Given the description of an element on the screen output the (x, y) to click on. 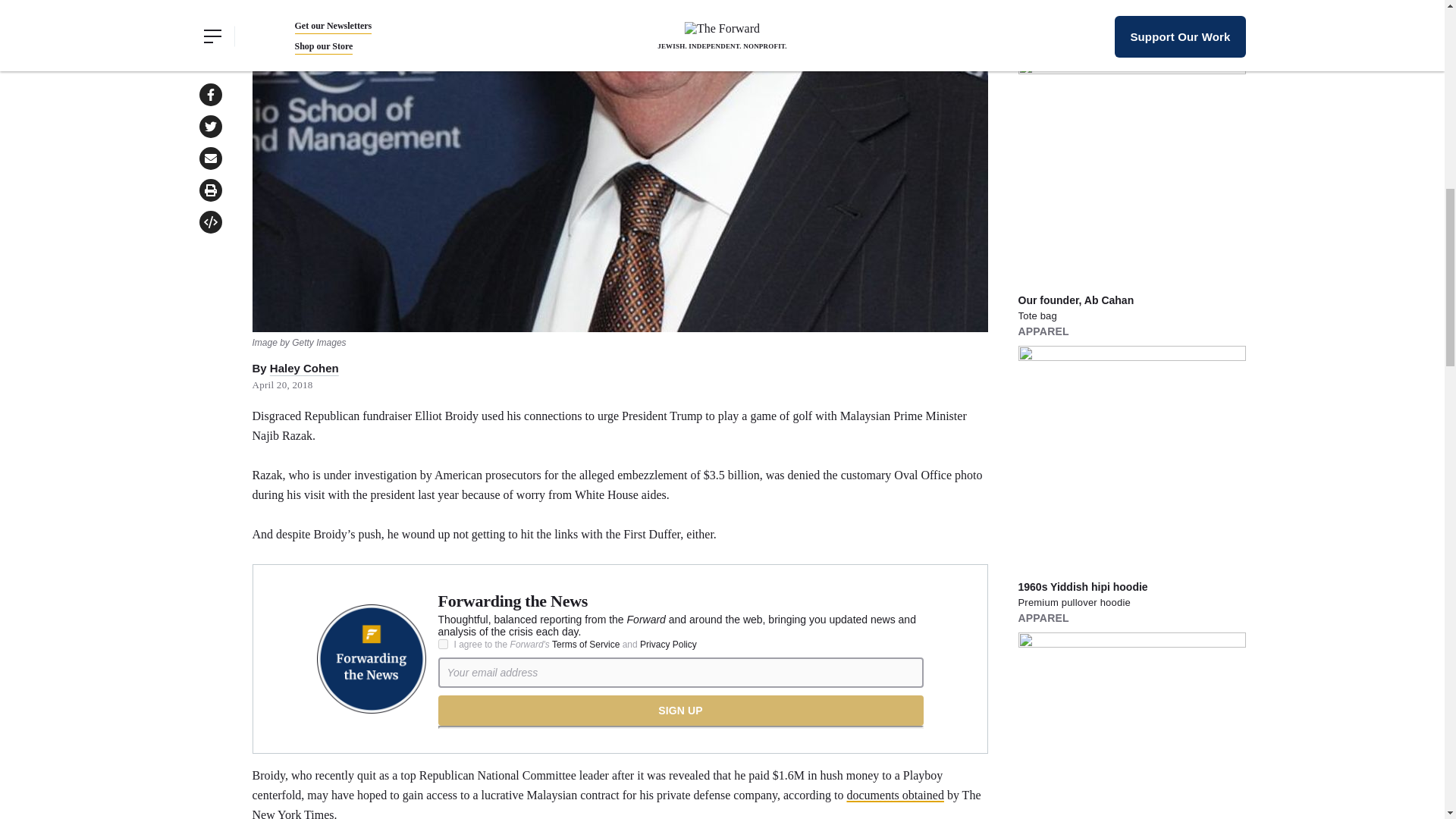
Yes (443, 644)
Sign Up (680, 710)
